Given the description of an element on the screen output the (x, y) to click on. 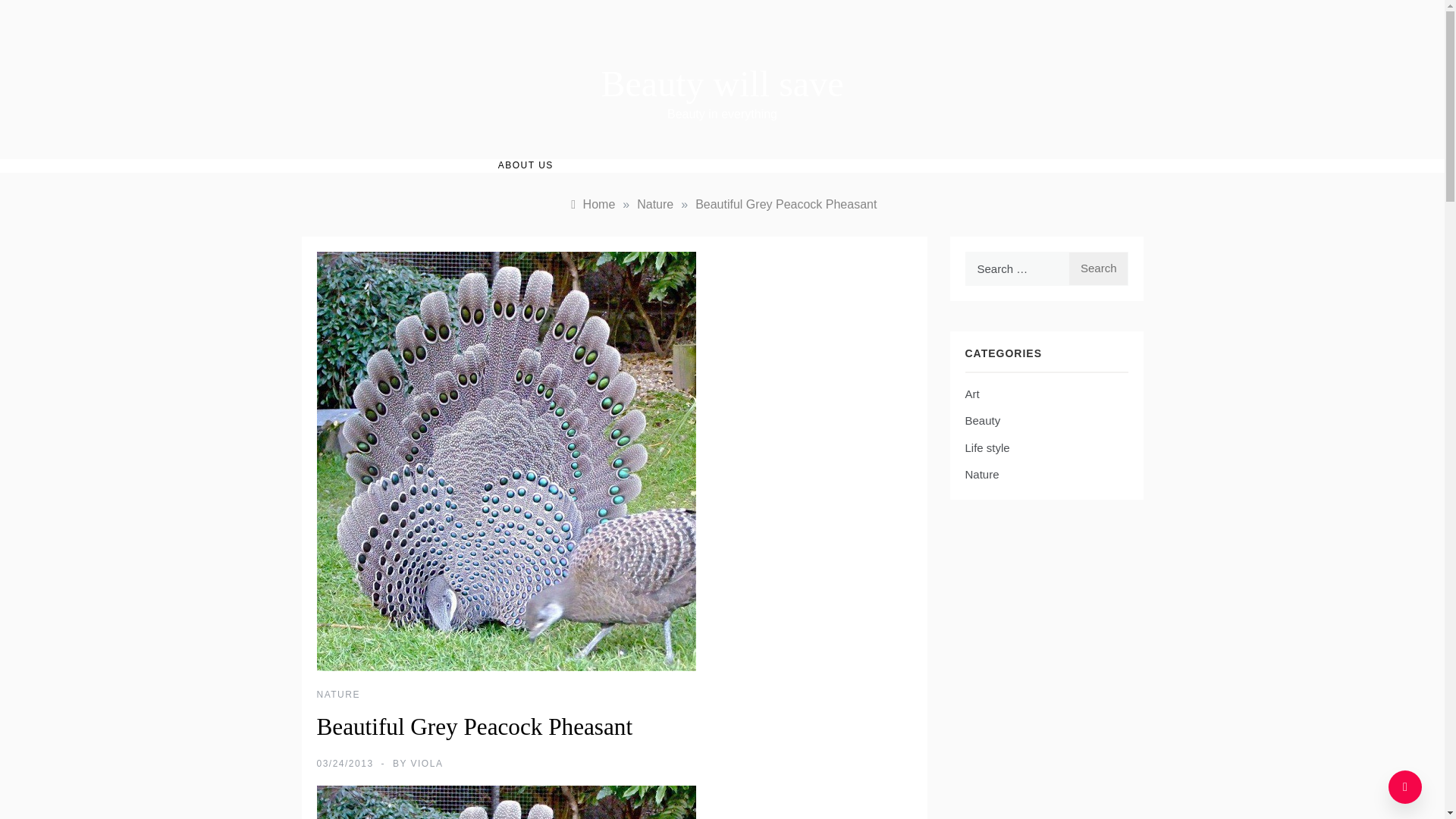
Search (1098, 268)
Beauty (981, 420)
ABOUT US (525, 164)
Beauty will save (722, 83)
Search (1098, 268)
Nature (980, 474)
Home (591, 204)
VIOLA (427, 763)
Go to Top (1405, 786)
Search (1098, 268)
